Given the description of an element on the screen output the (x, y) to click on. 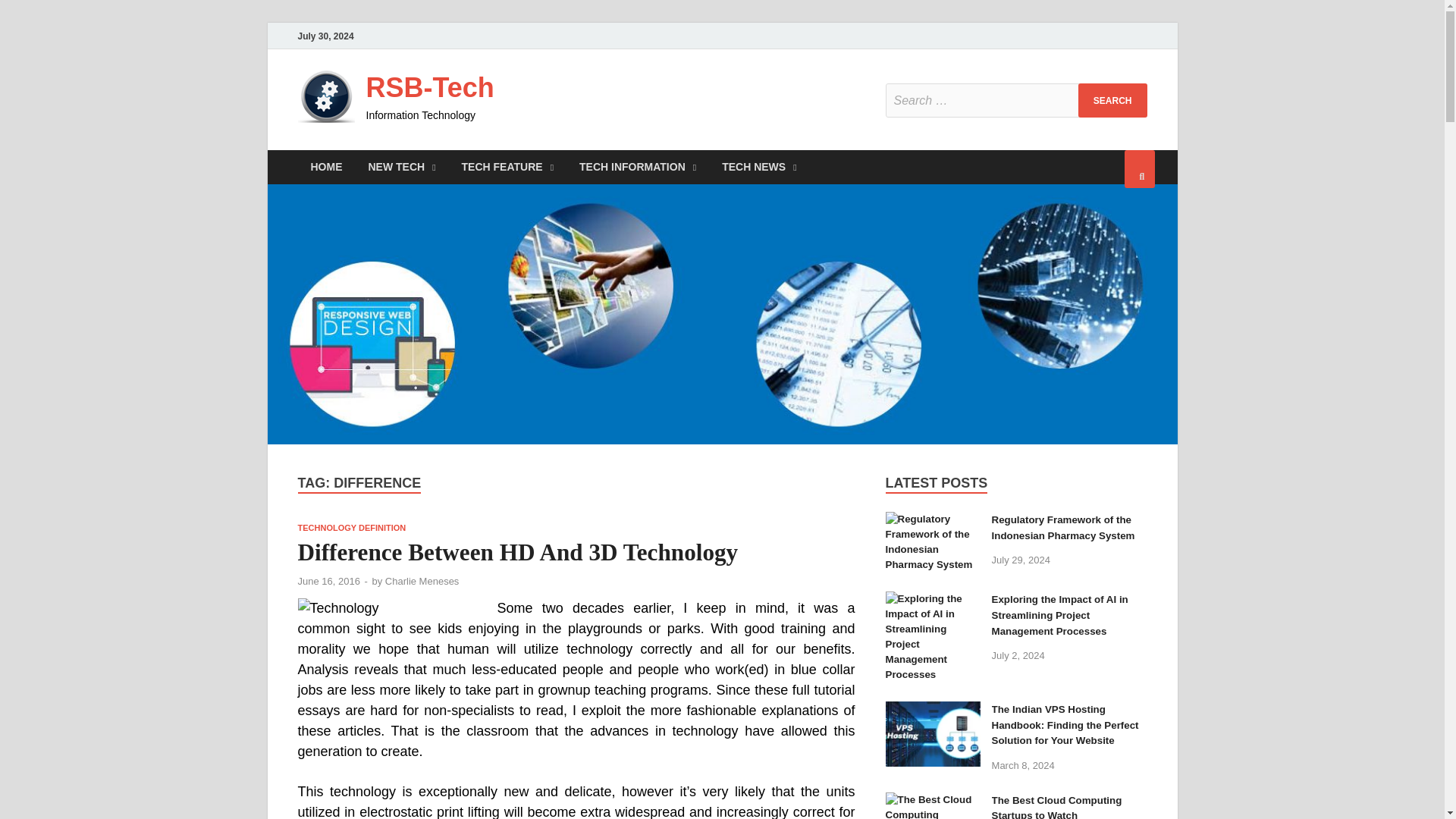
HOME (326, 166)
Charlie Meneses (422, 581)
RSB-Tech (429, 87)
TECH NEWS (759, 166)
Search (1112, 100)
June 16, 2016 (328, 581)
Search (1112, 100)
Regulatory Framework of the Indonesian Pharmacy System (932, 521)
Regulatory Framework of the Indonesian Pharmacy System (1063, 527)
TECH FEATURE (507, 166)
The Best Cloud Computing Startups to Watch (932, 801)
Search (1112, 100)
TECHNOLOGY DEFINITION (351, 527)
